Given the description of an element on the screen output the (x, y) to click on. 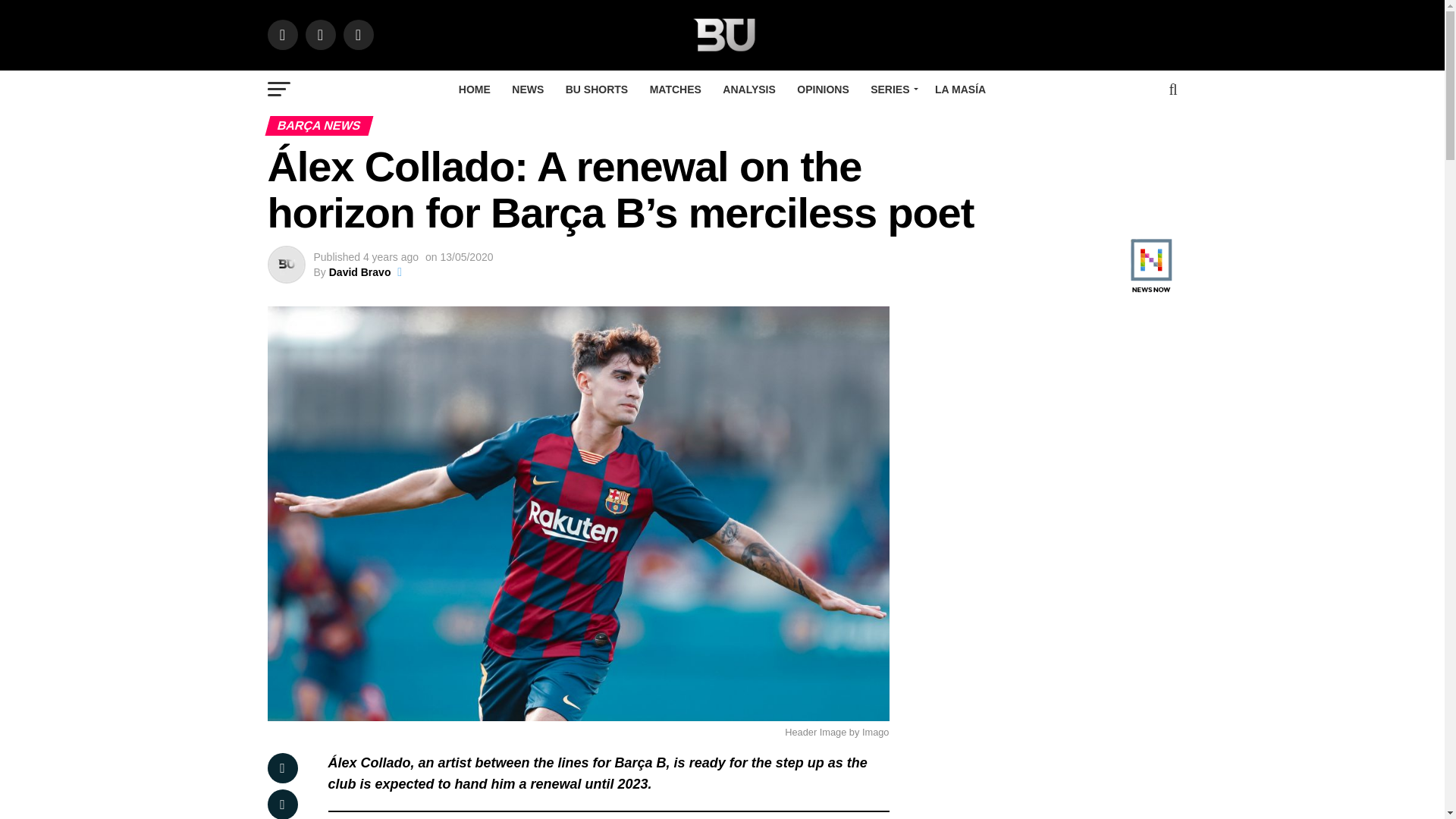
Posts by David Bravo (360, 272)
BU SHORTS (596, 89)
NEWS (527, 89)
HOME (474, 89)
